Given the description of an element on the screen output the (x, y) to click on. 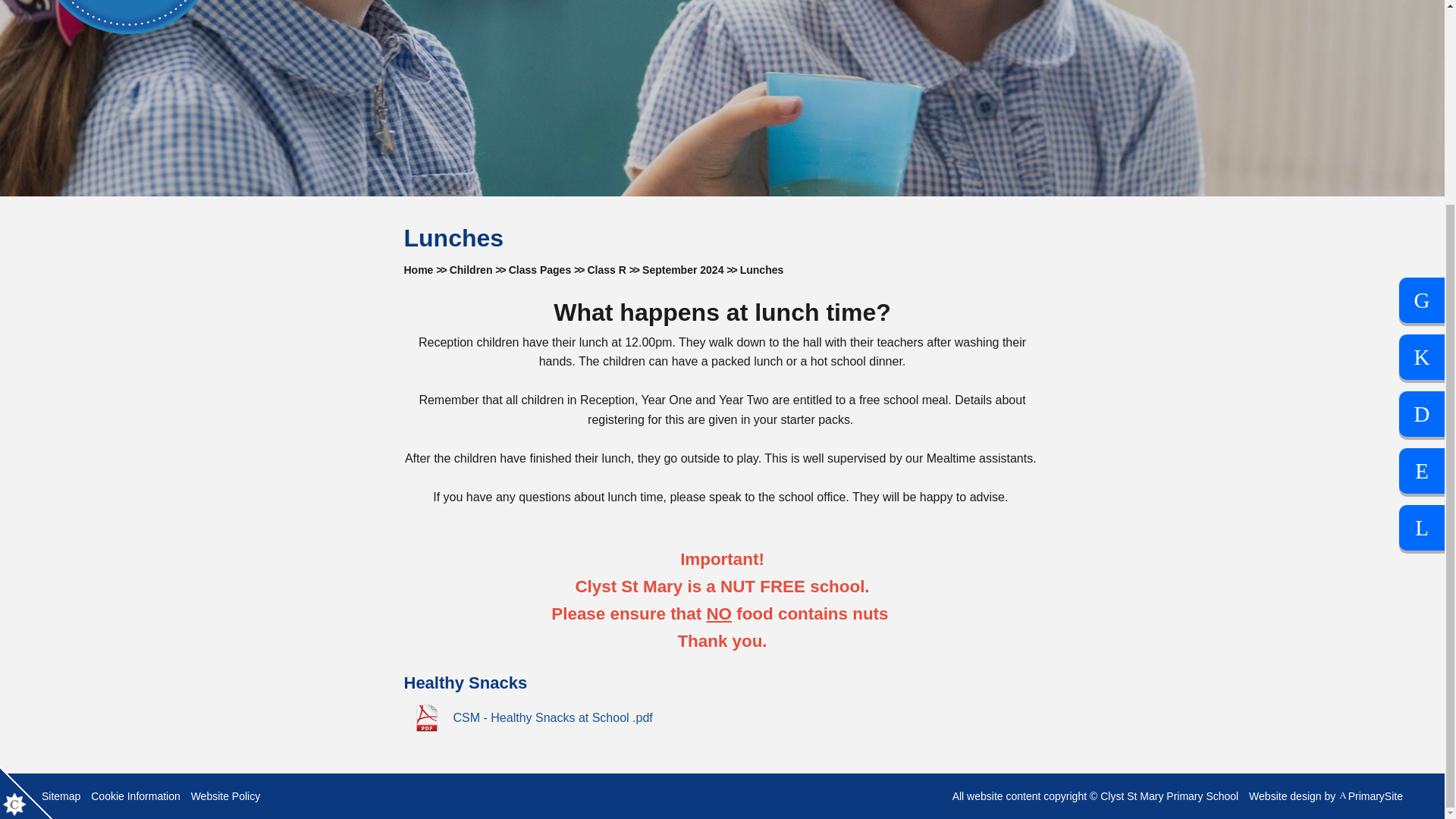
Home Page (127, 17)
